Given the description of an element on the screen output the (x, y) to click on. 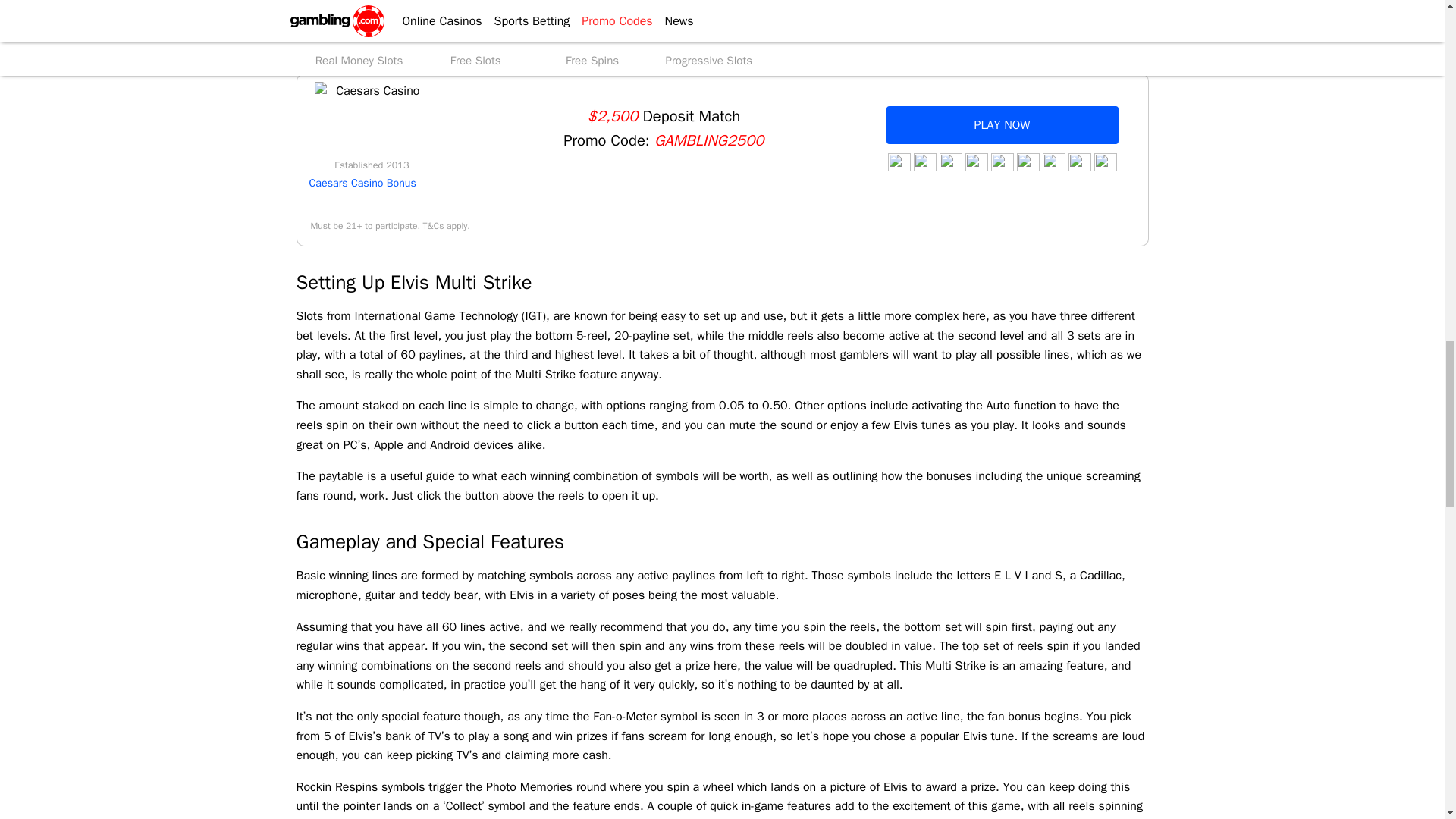
MasterCard (924, 162)
American Express (1053, 162)
ACH Transfer (1001, 162)
NETELLER (949, 162)
PayNearMe (1078, 162)
Caesars Casino (371, 119)
Discover (1027, 162)
PayPal (975, 162)
VISA (898, 162)
